Given the description of an element on the screen output the (x, y) to click on. 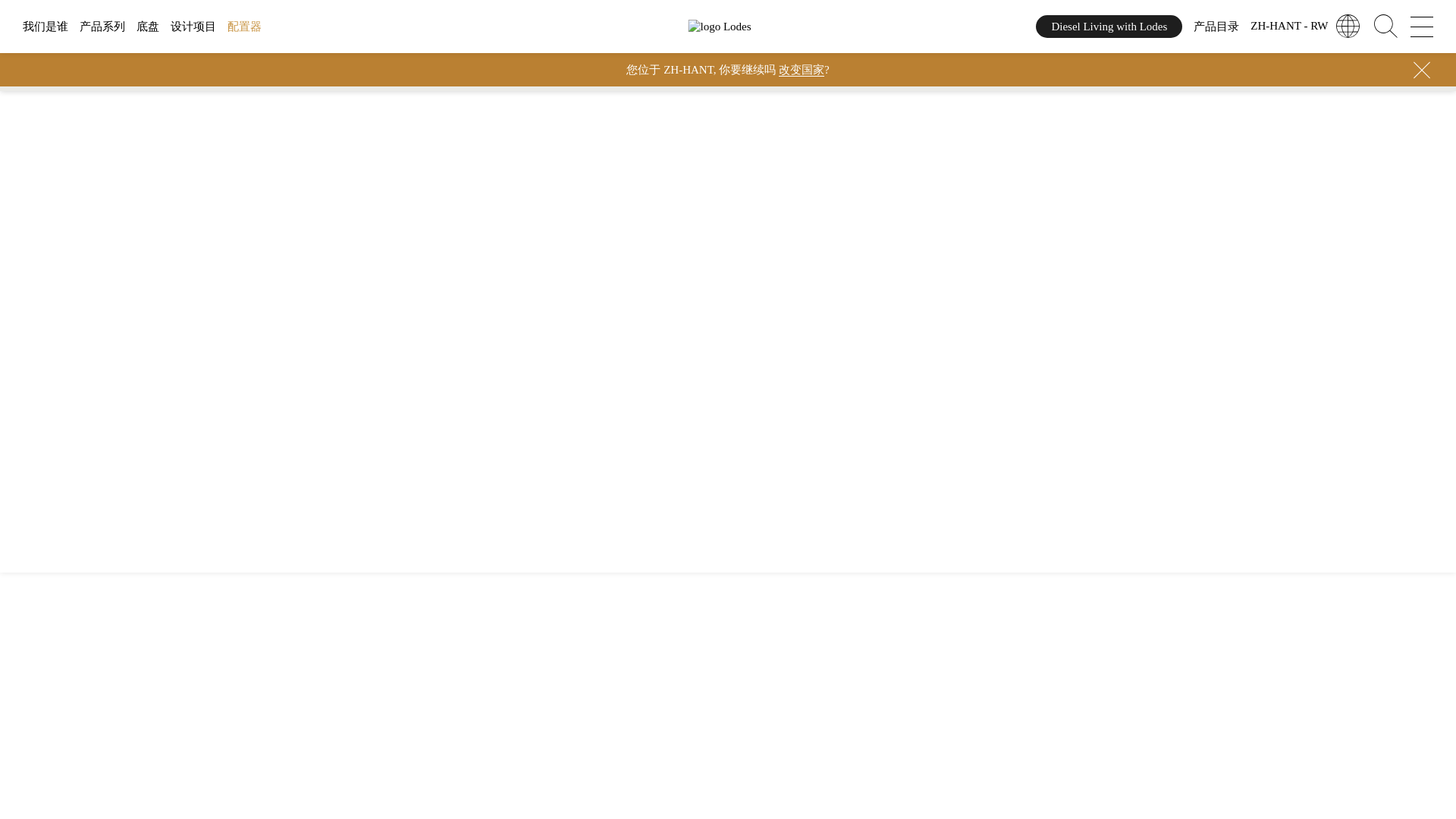
Diesel Living with Lodes (1108, 26)
